Given the description of an element on the screen output the (x, y) to click on. 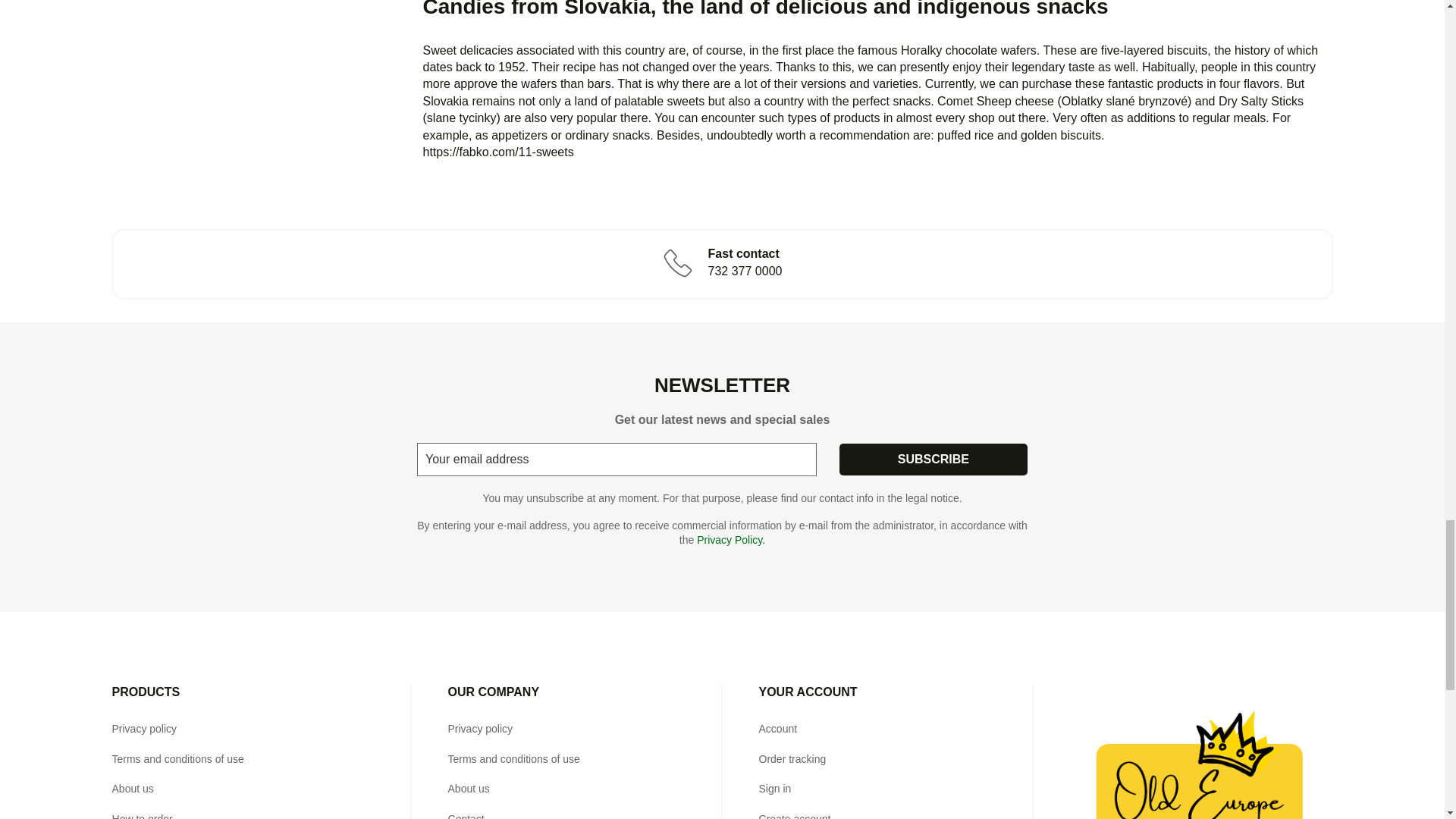
Our terms and conditions of use (178, 758)
Fast contact (722, 262)
Subscribe (933, 459)
Privacy Policy (144, 728)
Learn more about us (133, 788)
how to order (142, 816)
